Given the description of an element on the screen output the (x, y) to click on. 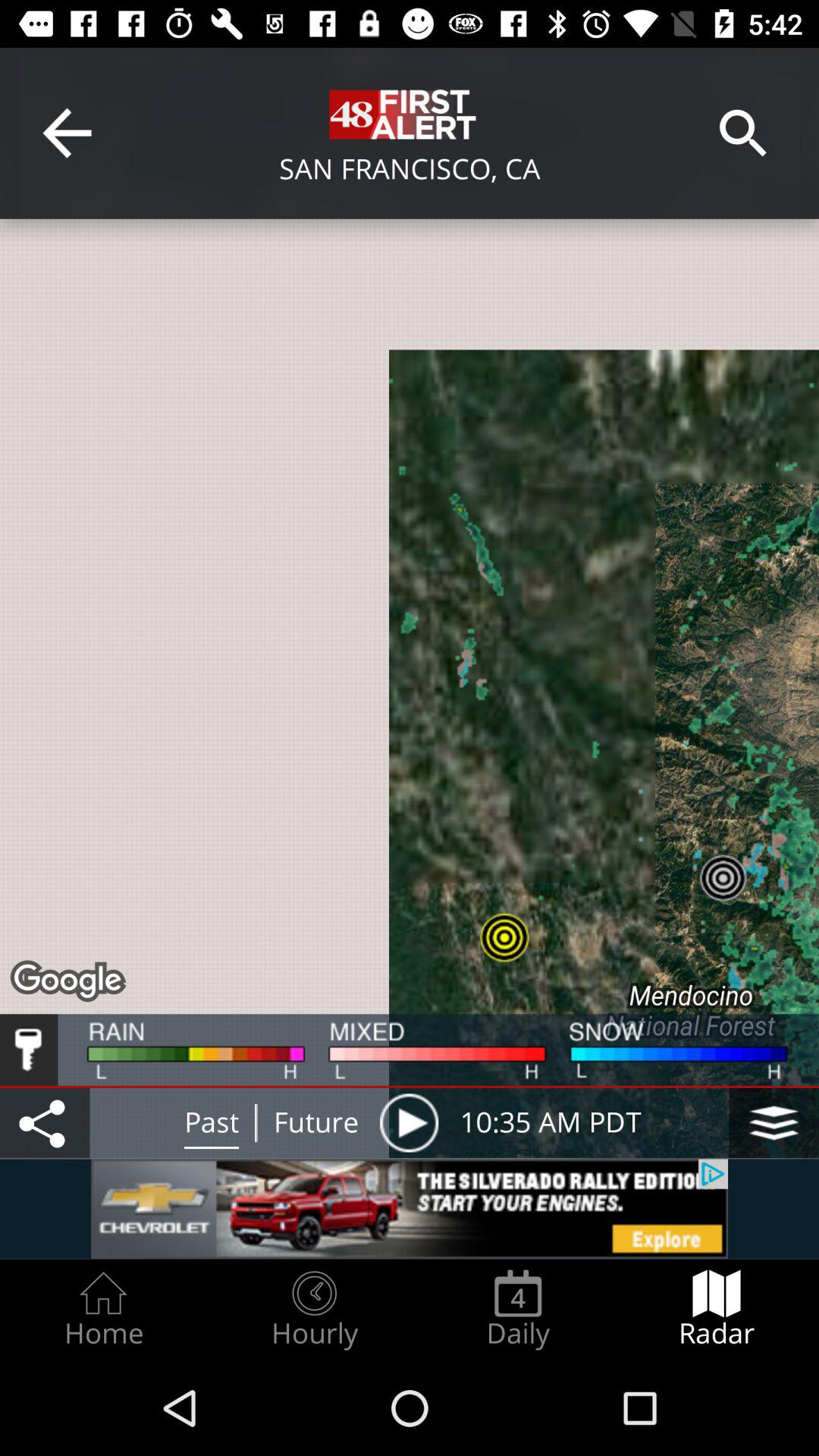
press icon next to the future item (409, 1122)
